Given the description of an element on the screen output the (x, y) to click on. 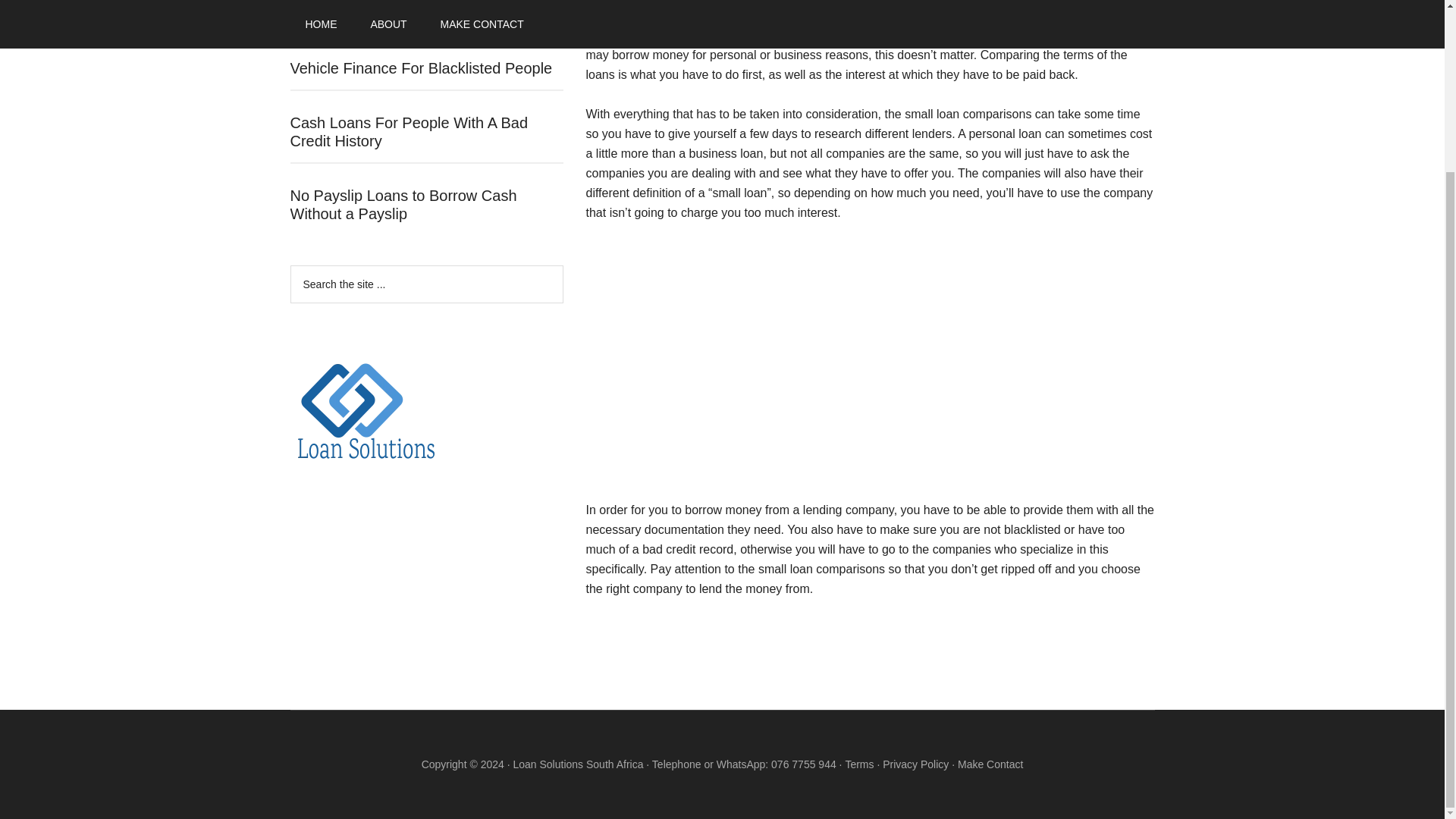
No Payslip Loans to Borrow Cash Without a Payslip (402, 204)
Privacy Policy (915, 764)
Bad Credit Personal Loans (379, 13)
Make Contact (990, 764)
Some companies even lend money to blacklisted individuals (845, 25)
Terms (858, 764)
Cash Loans For People With A Bad Credit History (408, 131)
Advertisement (869, 368)
